Given the description of an element on the screen output the (x, y) to click on. 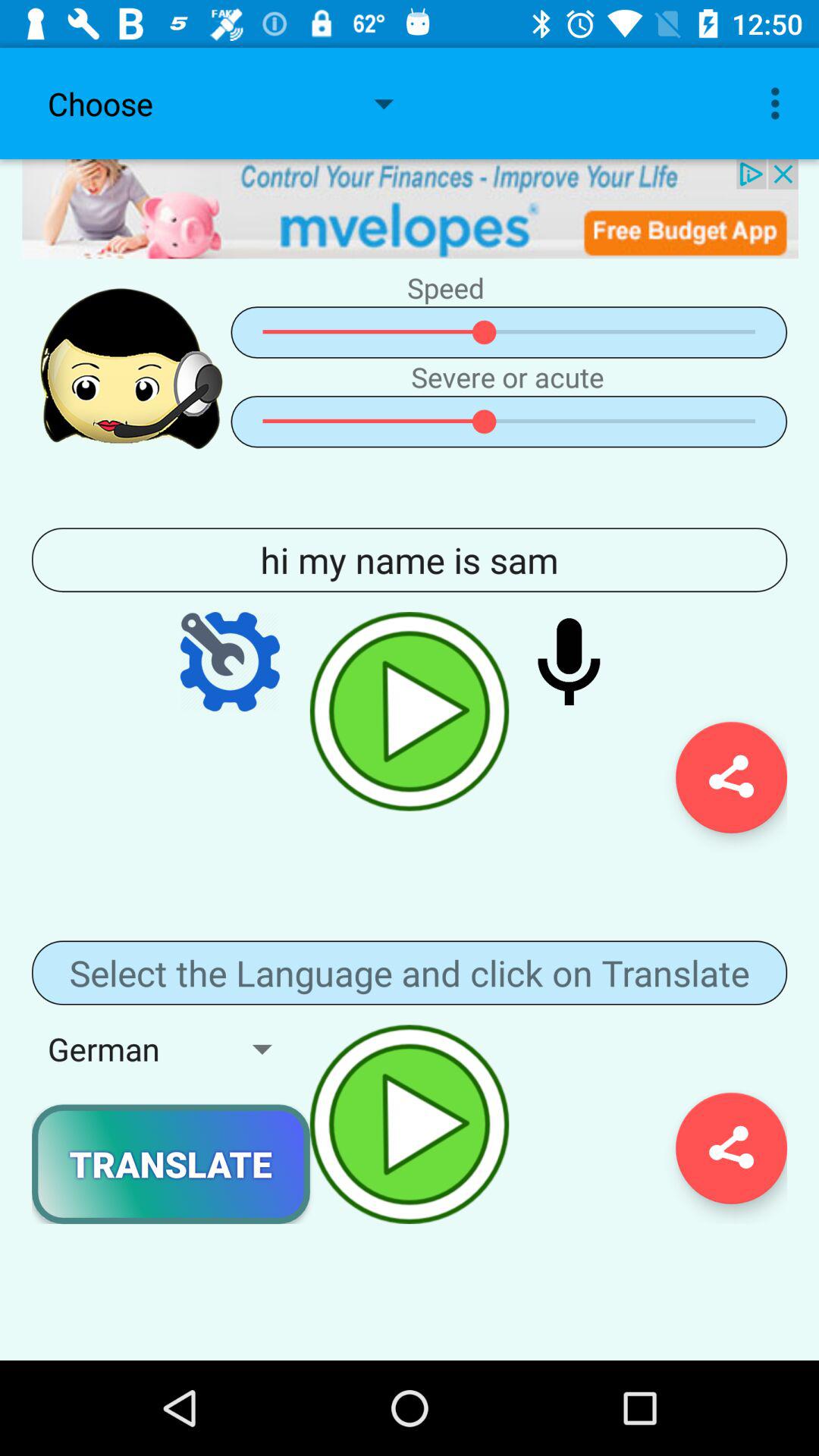
choose the selection (409, 208)
